Given the description of an element on the screen output the (x, y) to click on. 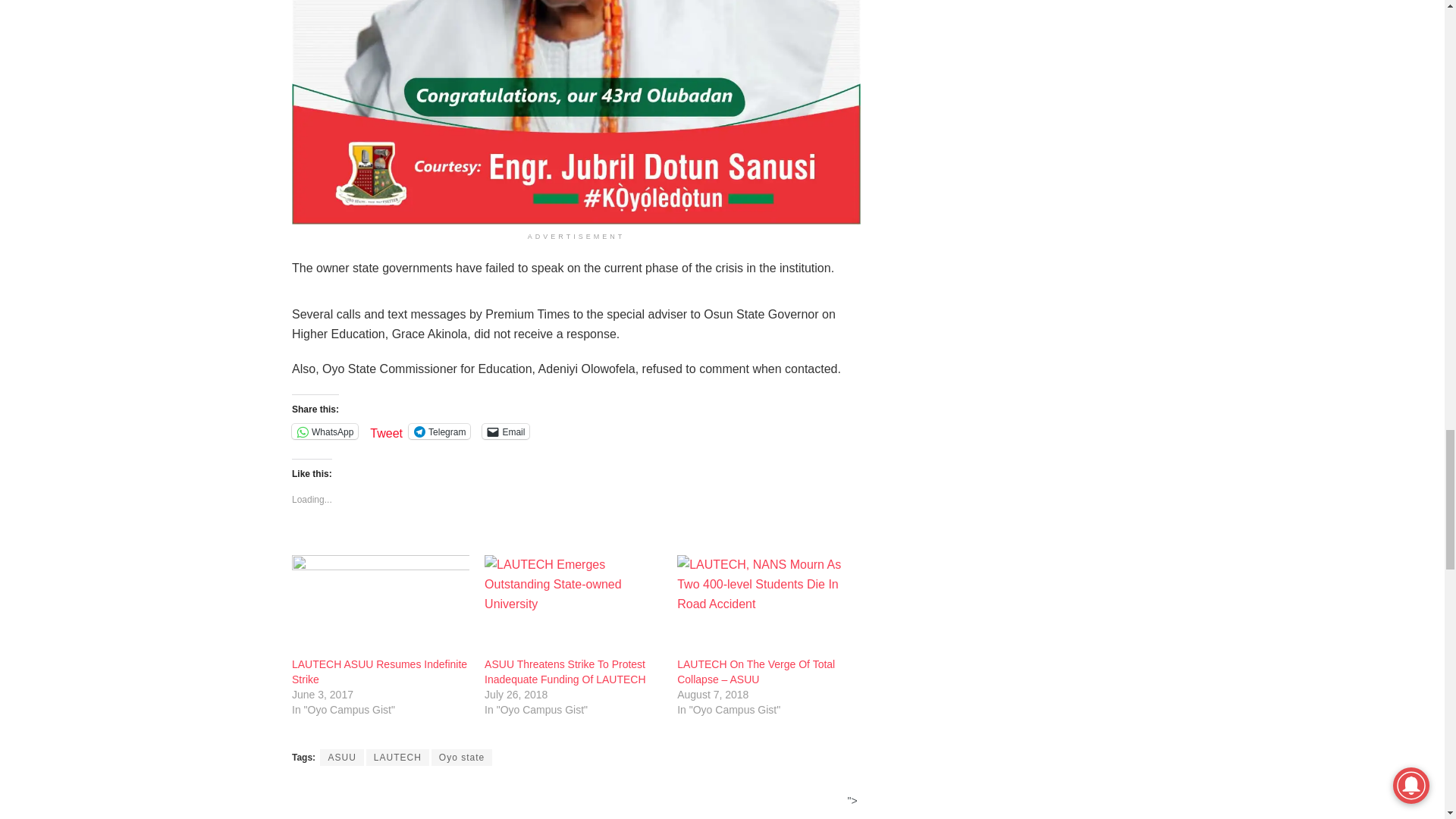
LAUTECH ASUU Resumes Indefinite Strike (380, 605)
Click to share on WhatsApp (325, 431)
Click to share on Telegram (439, 431)
Click to email a link to a friend (505, 431)
LAUTECH ASUU Resumes Indefinite Strike (379, 671)
